Given the description of an element on the screen output the (x, y) to click on. 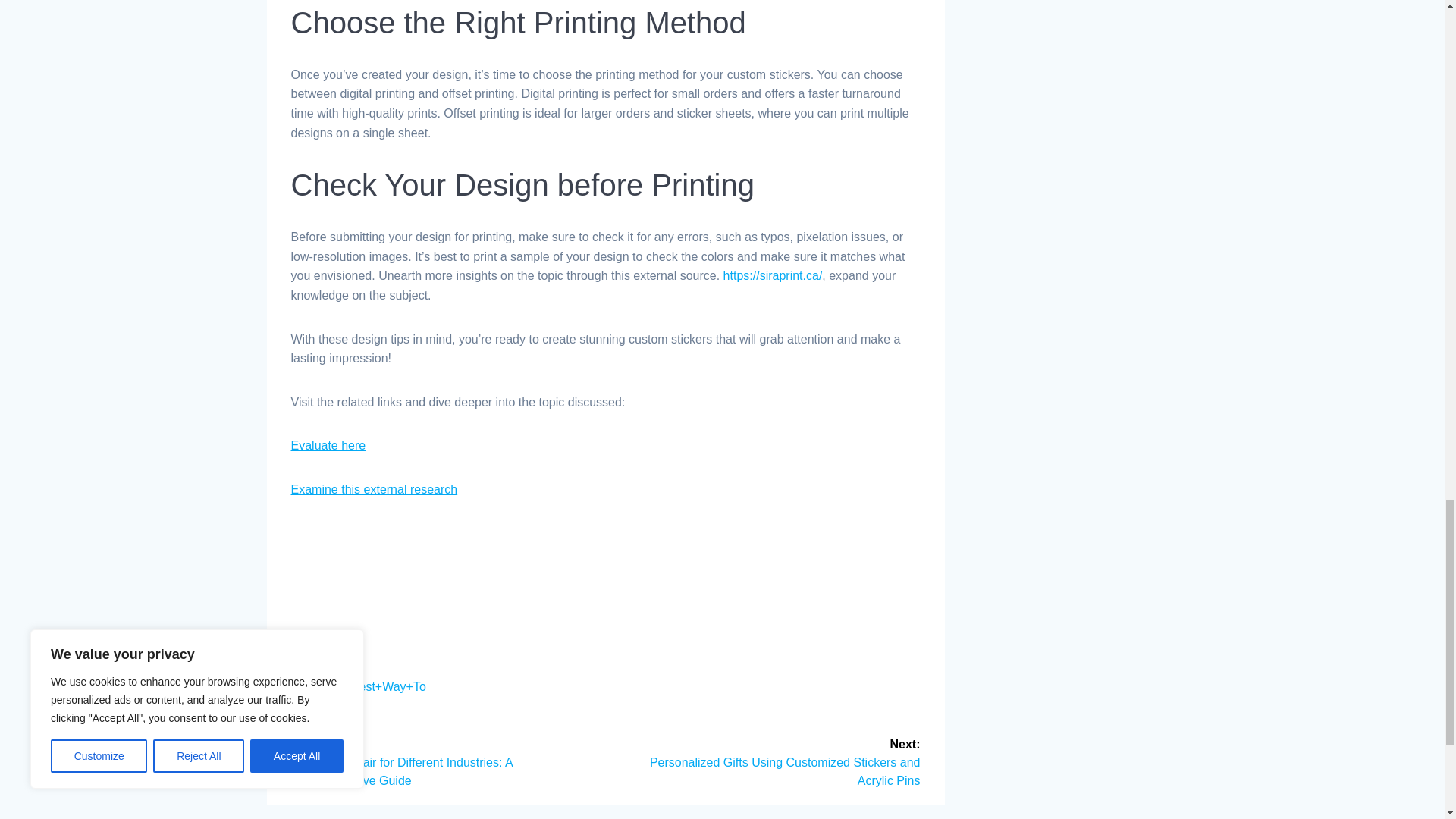
Examine this external research (374, 489)
Evaluate here (328, 445)
